Given the description of an element on the screen output the (x, y) to click on. 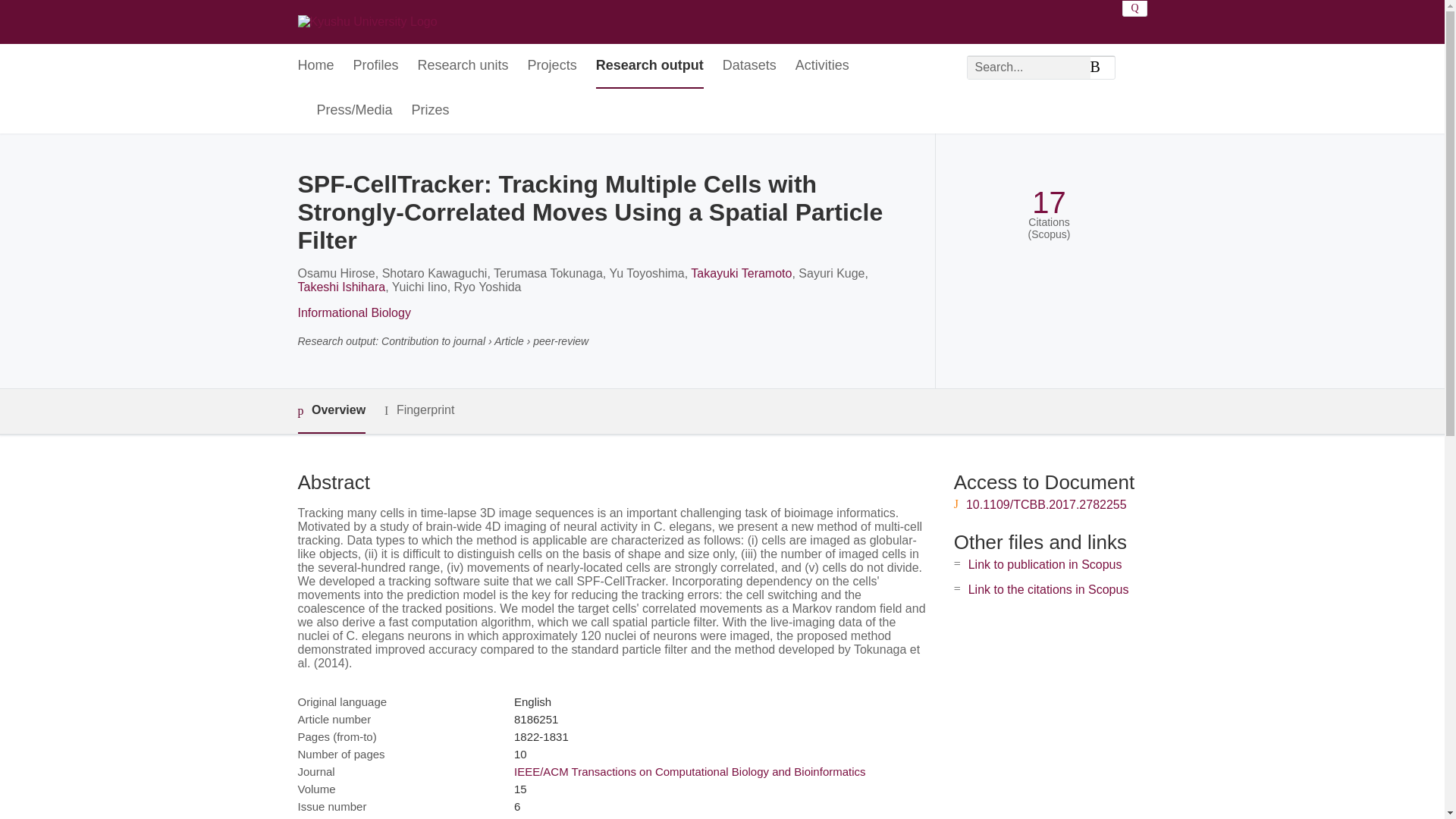
17 (1048, 202)
Research units (462, 66)
Overview (331, 411)
Research output (649, 66)
Fingerprint (419, 410)
Takayuki Teramoto (741, 273)
Datasets (749, 66)
Link to publication in Scopus (1045, 563)
Projects (551, 66)
